Given the description of an element on the screen output the (x, y) to click on. 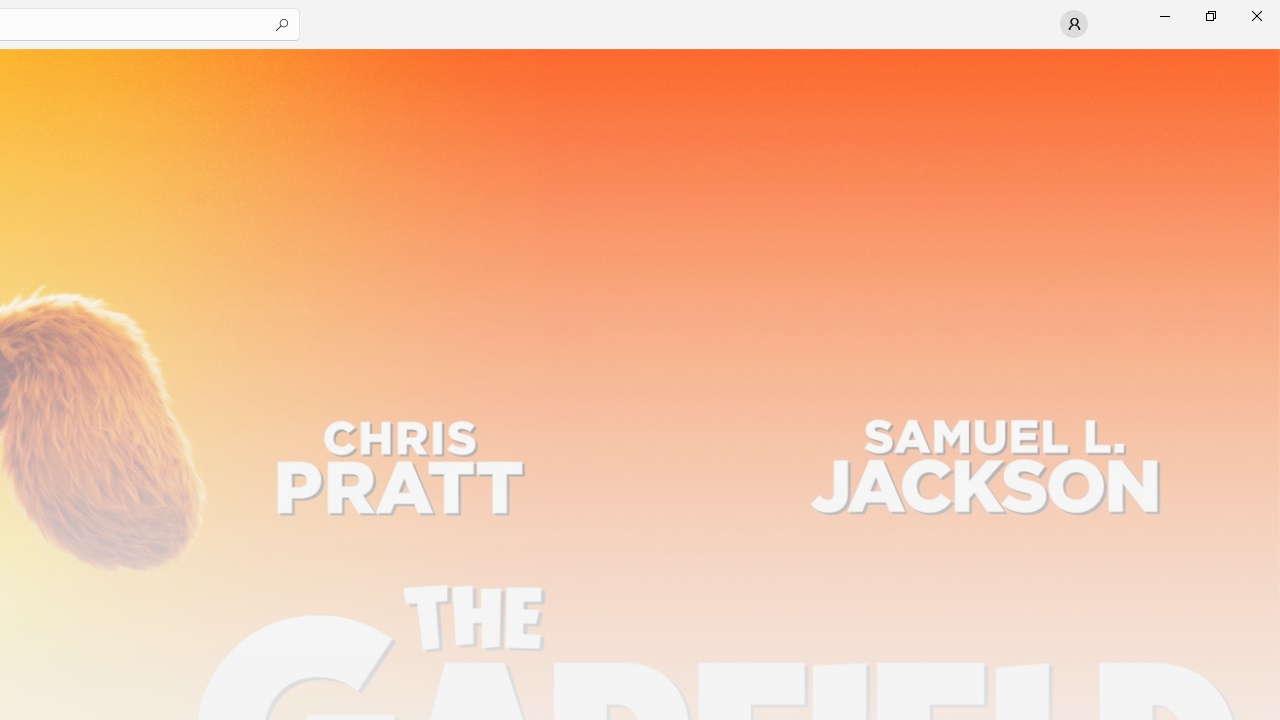
Close Microsoft Store (1256, 15)
Minimize Microsoft Store (1164, 15)
Restore Microsoft Store (1210, 15)
User profile (1073, 24)
